Given the description of an element on the screen output the (x, y) to click on. 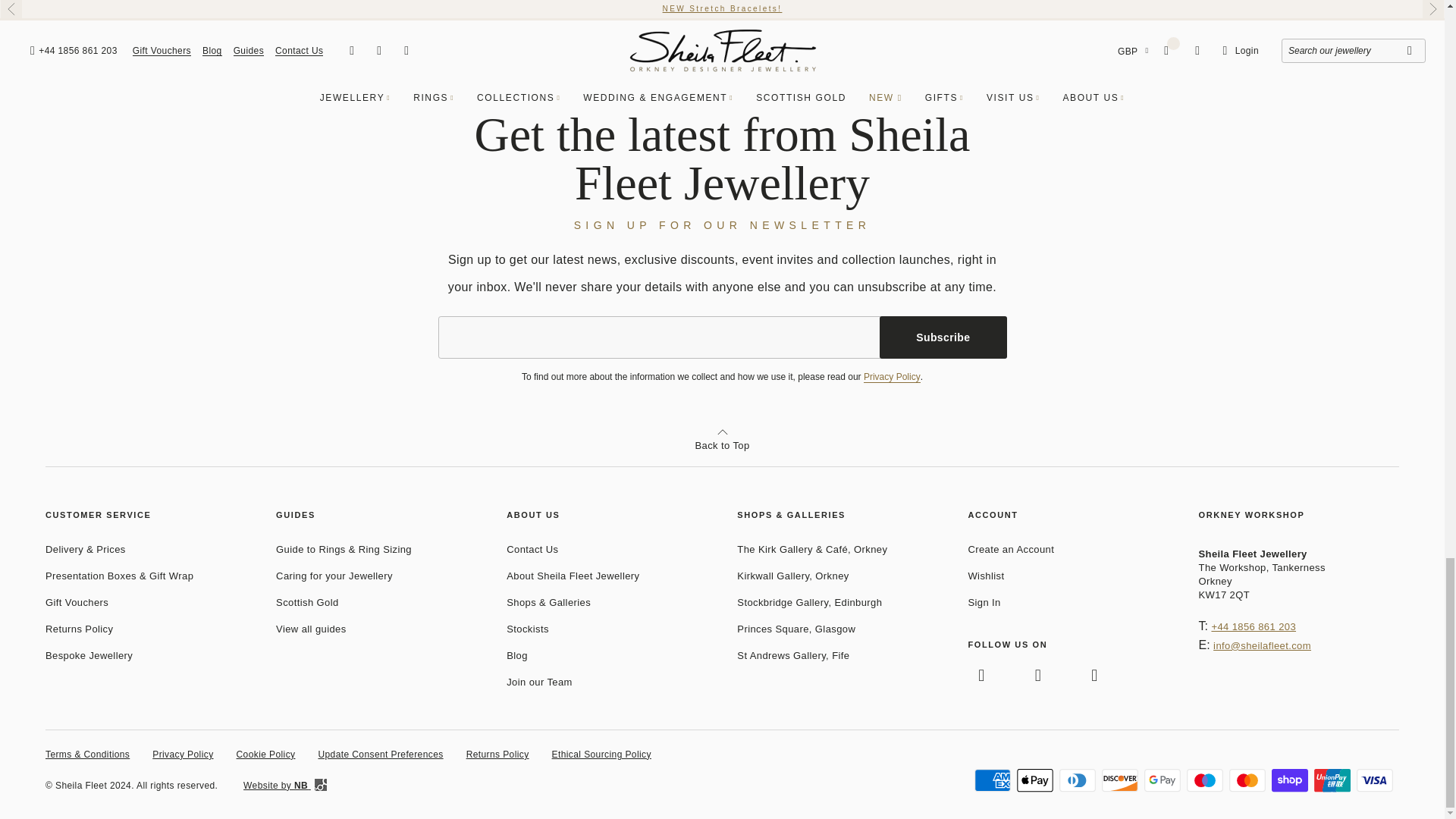
Diners Club (1077, 780)
Maestro (1204, 780)
Google Pay (1162, 780)
Union Pay (1332, 780)
Apple Pay (1034, 780)
Shop Pay (1289, 780)
Mastercard (1246, 780)
American Express (992, 780)
Visa (1374, 780)
Discover (1120, 780)
